Given the description of an element on the screen output the (x, y) to click on. 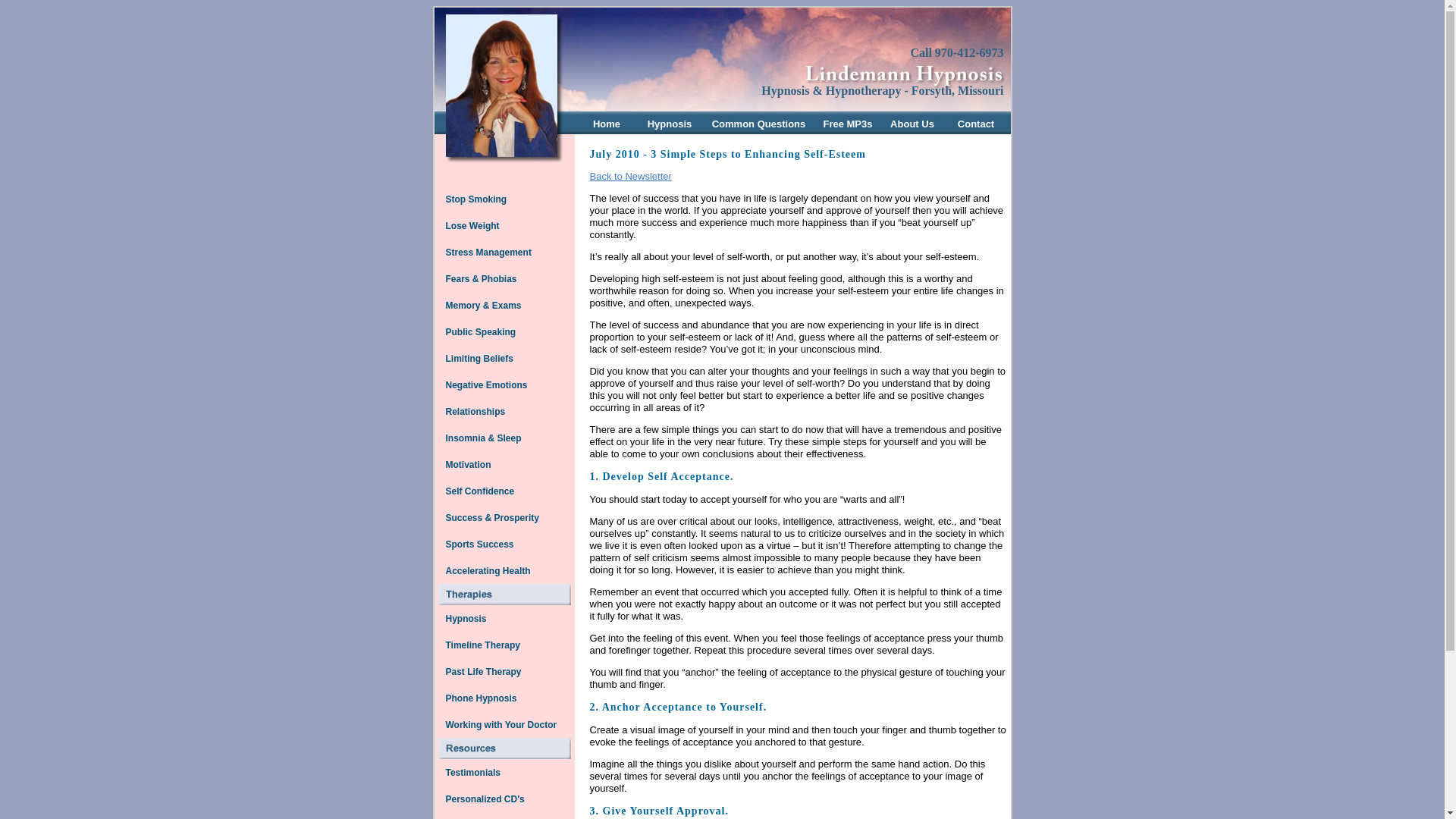
Home (606, 123)
Relationships (474, 411)
Public Speaking (480, 331)
Hypnosis (670, 123)
Back to Newsletter (630, 175)
Negative Emotions (486, 384)
Accelerating Health (487, 570)
Motivation (468, 464)
Testimonials (472, 771)
Sports Success (478, 544)
